Given the description of an element on the screen output the (x, y) to click on. 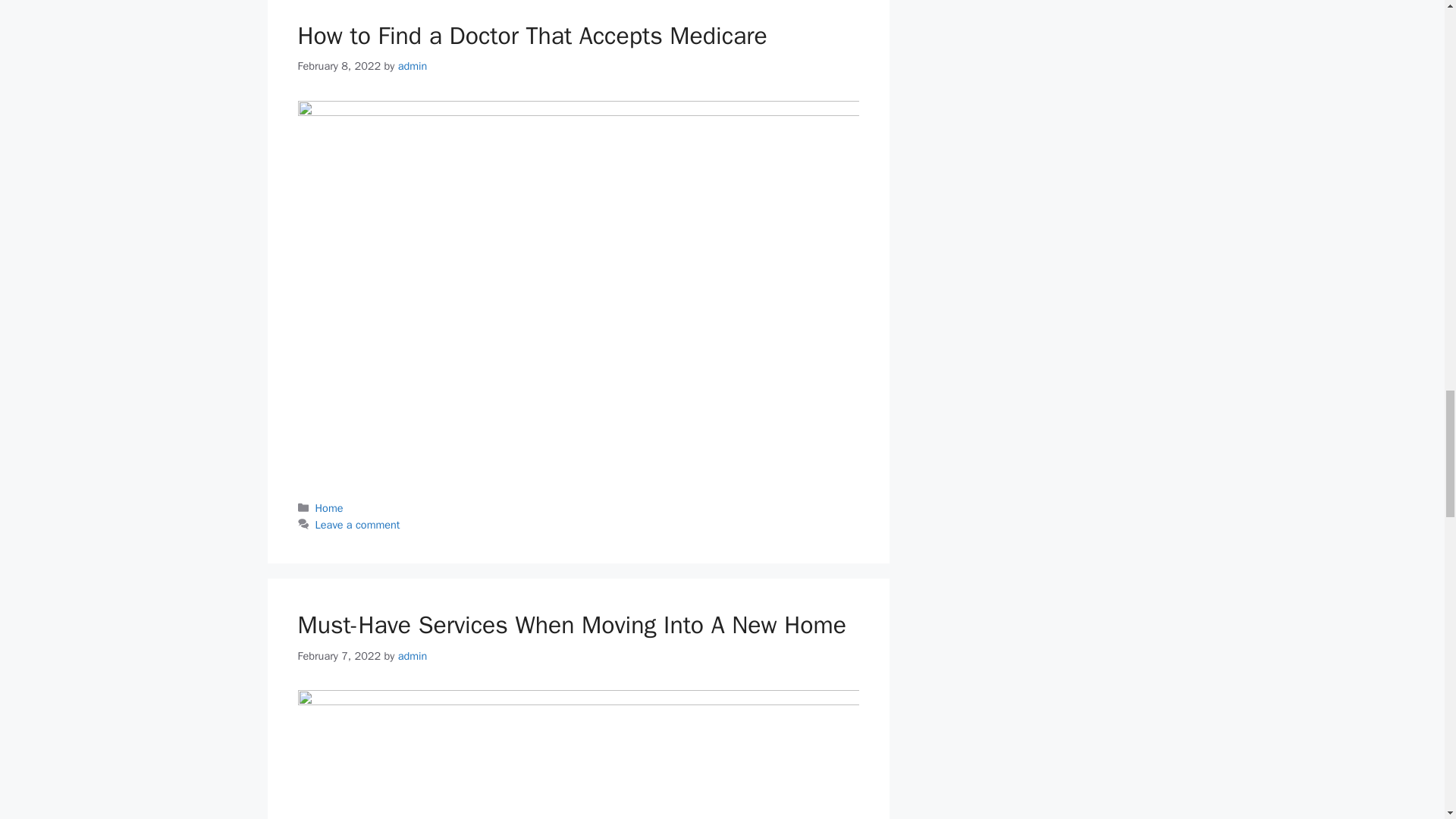
View all posts by admin (412, 65)
Leave a comment (357, 524)
View all posts by admin (412, 655)
admin (412, 65)
Home (329, 508)
How to Find a Doctor That Accepts Medicare (532, 35)
admin (412, 655)
Must-Have Services When Moving Into A New Home (571, 624)
